Given the description of an element on the screen output the (x, y) to click on. 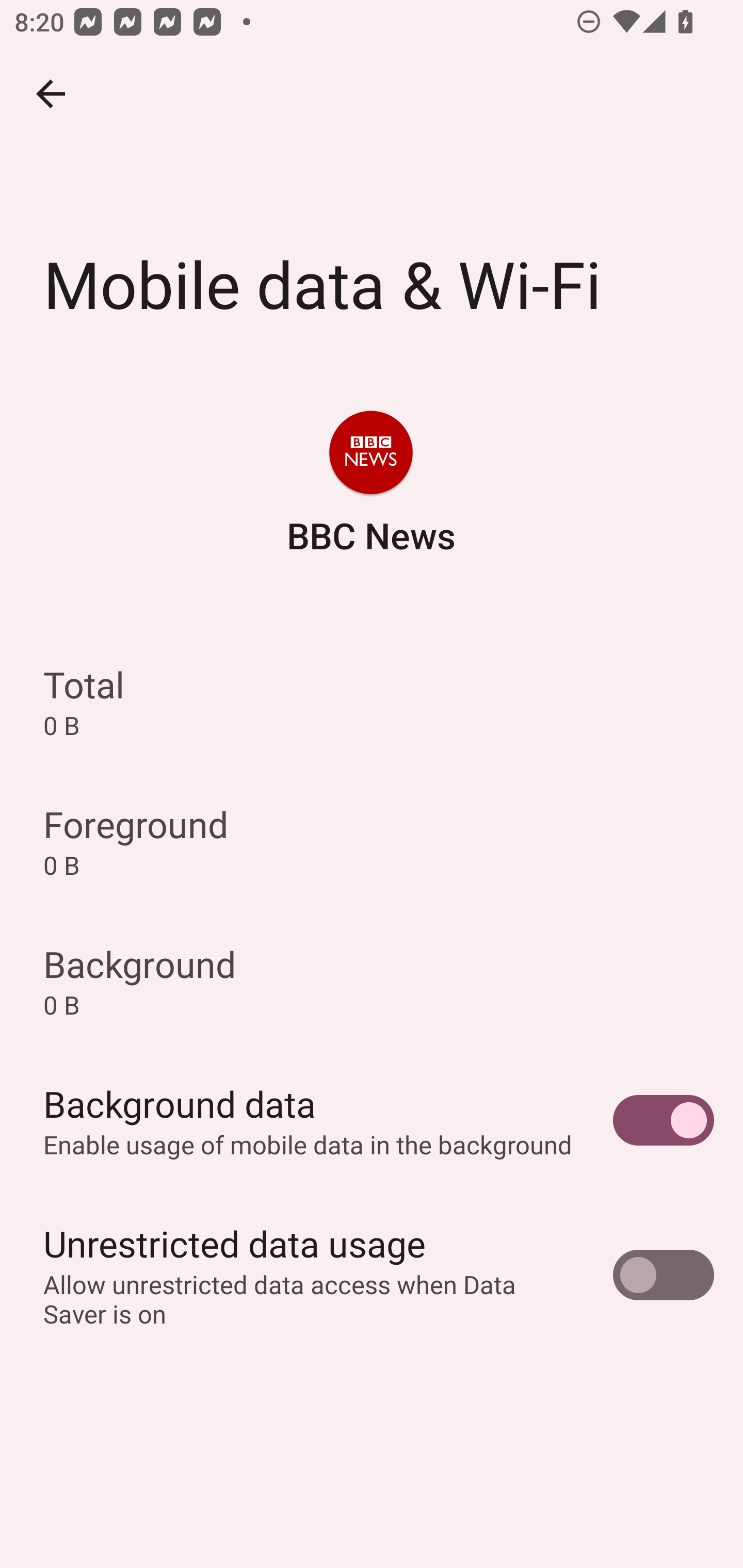
Navigate up (50, 93)
BBC News (370, 484)
